Given the description of an element on the screen output the (x, y) to click on. 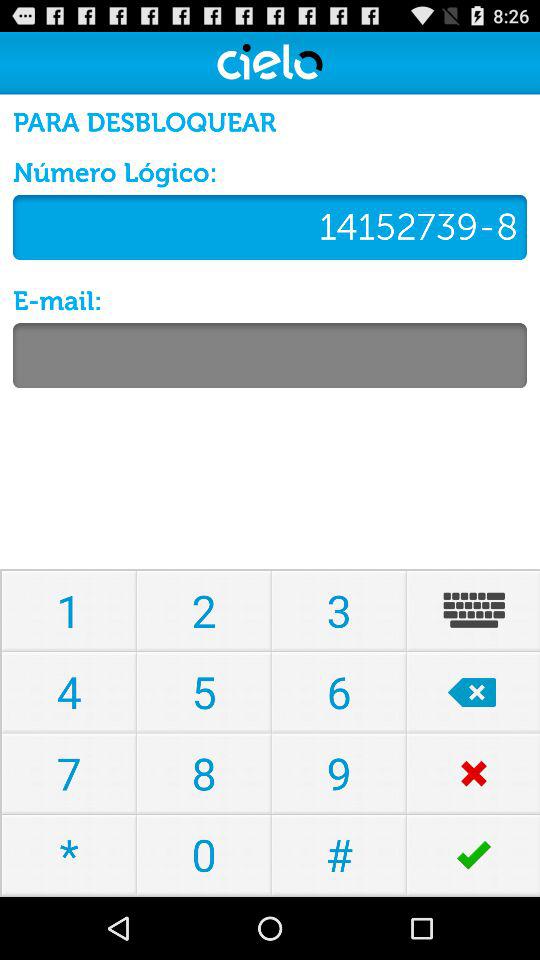
text entry field (269, 355)
